Given the description of an element on the screen output the (x, y) to click on. 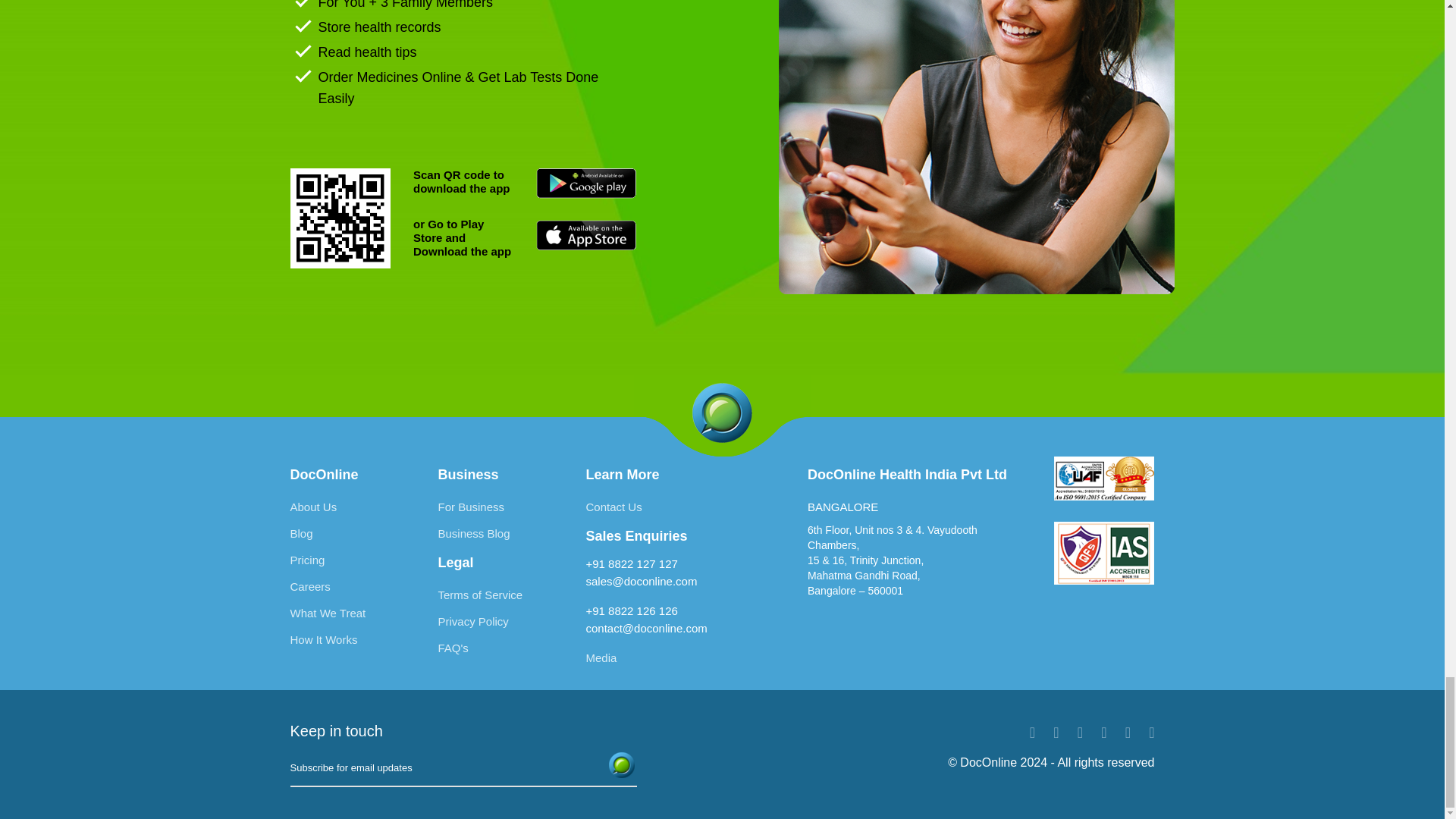
Please enter email id (463, 768)
